Given the description of an element on the screen output the (x, y) to click on. 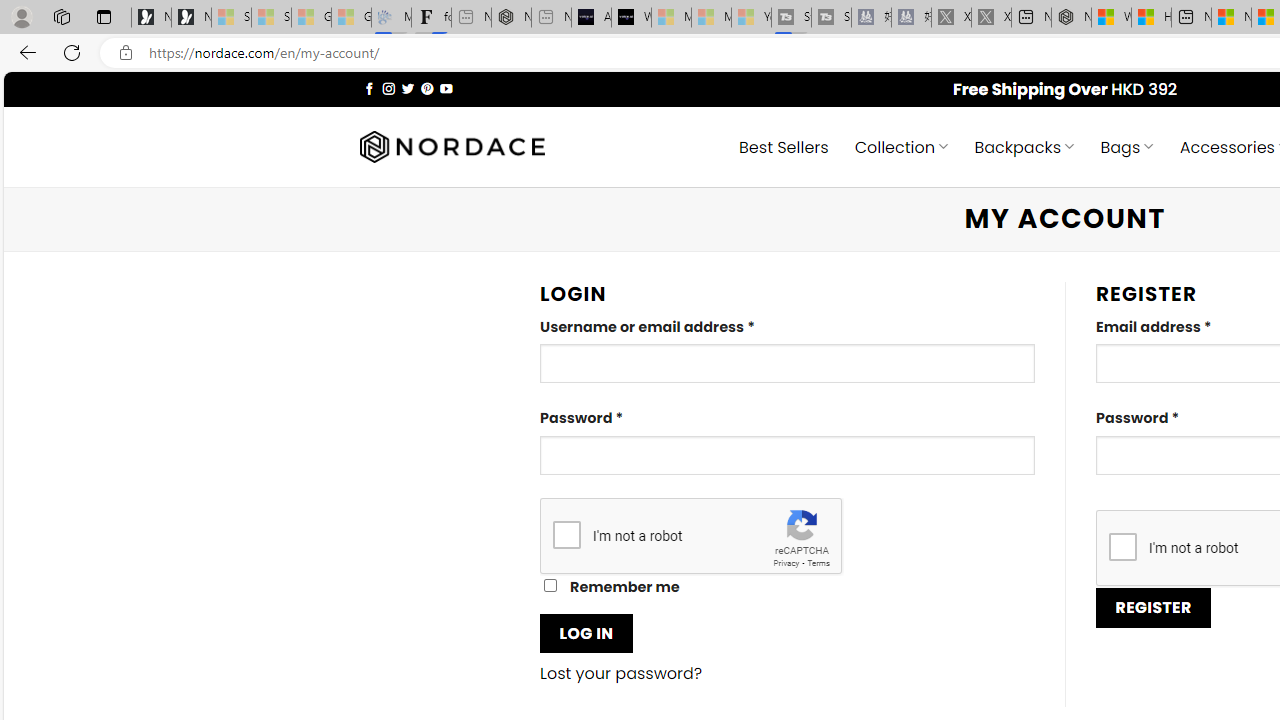
Privacy (786, 562)
AI Voice Changer for PC and Mac - Voice.ai (591, 17)
Follow on Instagram (388, 88)
REGISTER (1153, 607)
Microsoft Start - Sleeping (711, 17)
